Given the description of an element on the screen output the (x, y) to click on. 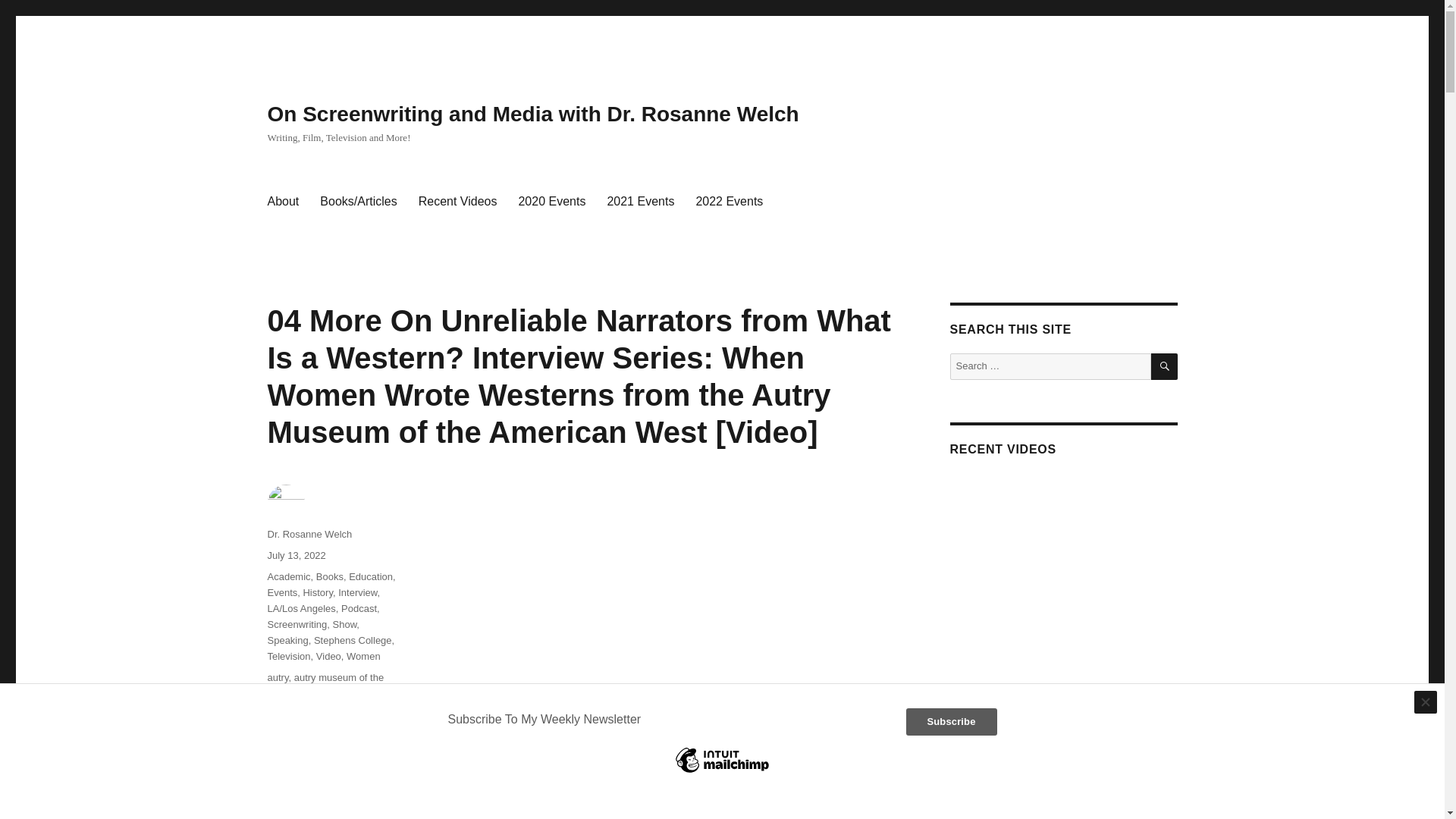
Women (363, 655)
History (316, 592)
Screenwriting (296, 624)
Stephens College (352, 640)
Television (288, 655)
Speaking (286, 640)
Academic (288, 576)
YouTube video player (660, 602)
2022 Events (728, 201)
autry (277, 677)
On Screenwriting and Media with Dr. Rosanne Welch (531, 114)
July 13, 2022 (295, 555)
About (282, 201)
Show (343, 624)
autry museum of the american west (325, 685)
